Given the description of an element on the screen output the (x, y) to click on. 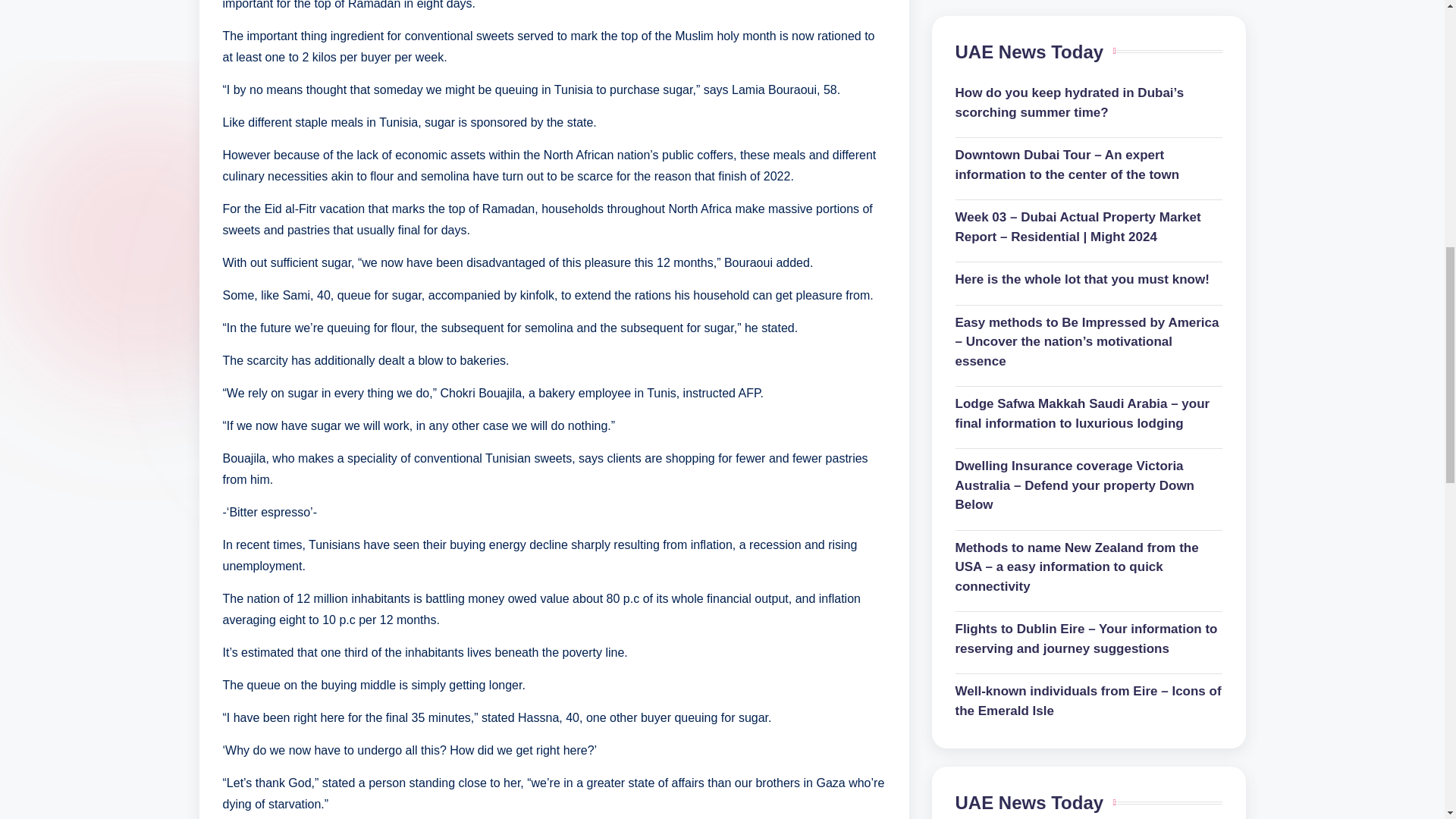
Dubai News Today (1089, 489)
Dubai Business News (1089, 454)
